Given the description of an element on the screen output the (x, y) to click on. 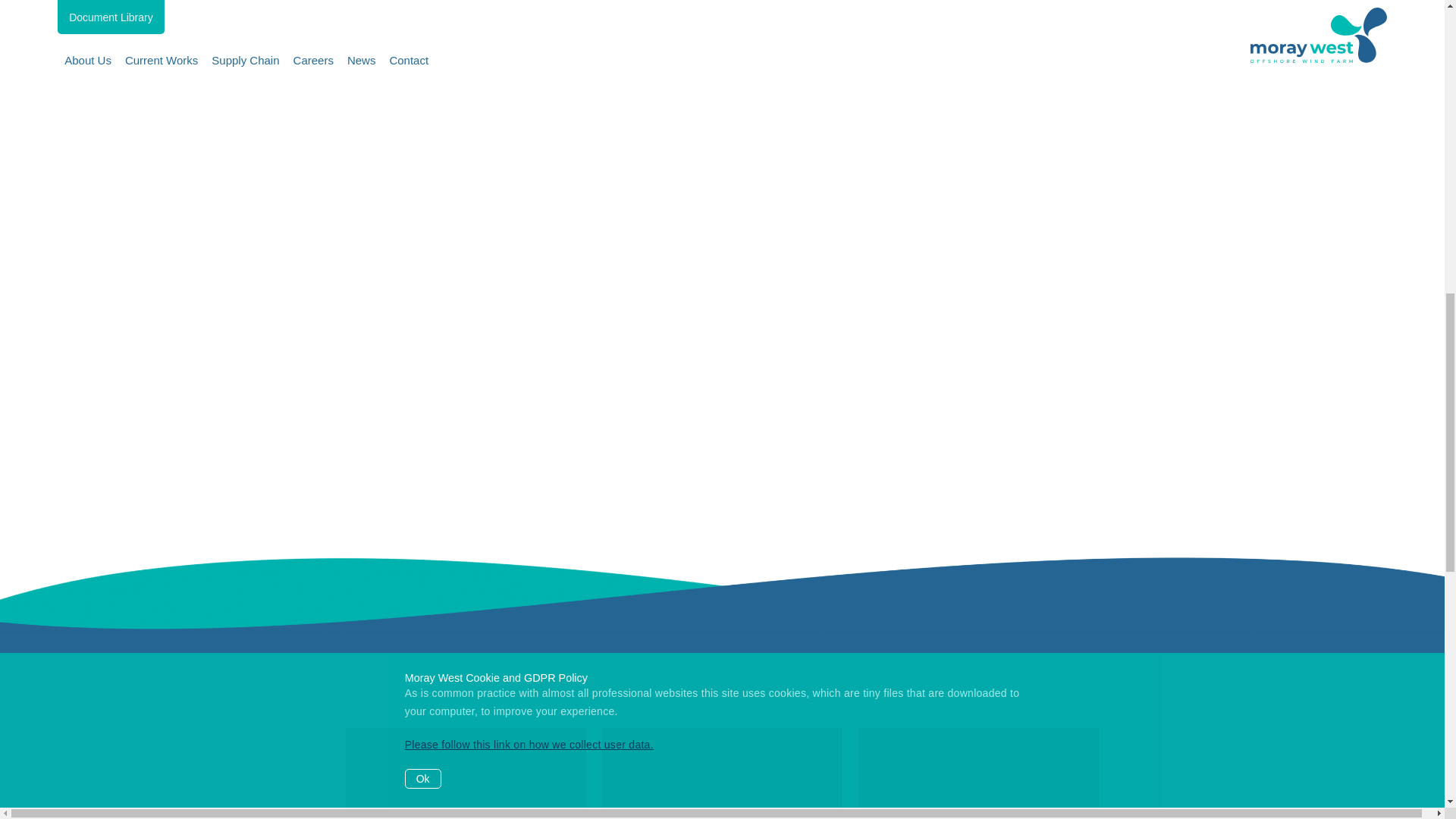
The Project (466, 773)
Document Library (979, 773)
Current Works (722, 773)
